Given the description of an element on the screen output the (x, y) to click on. 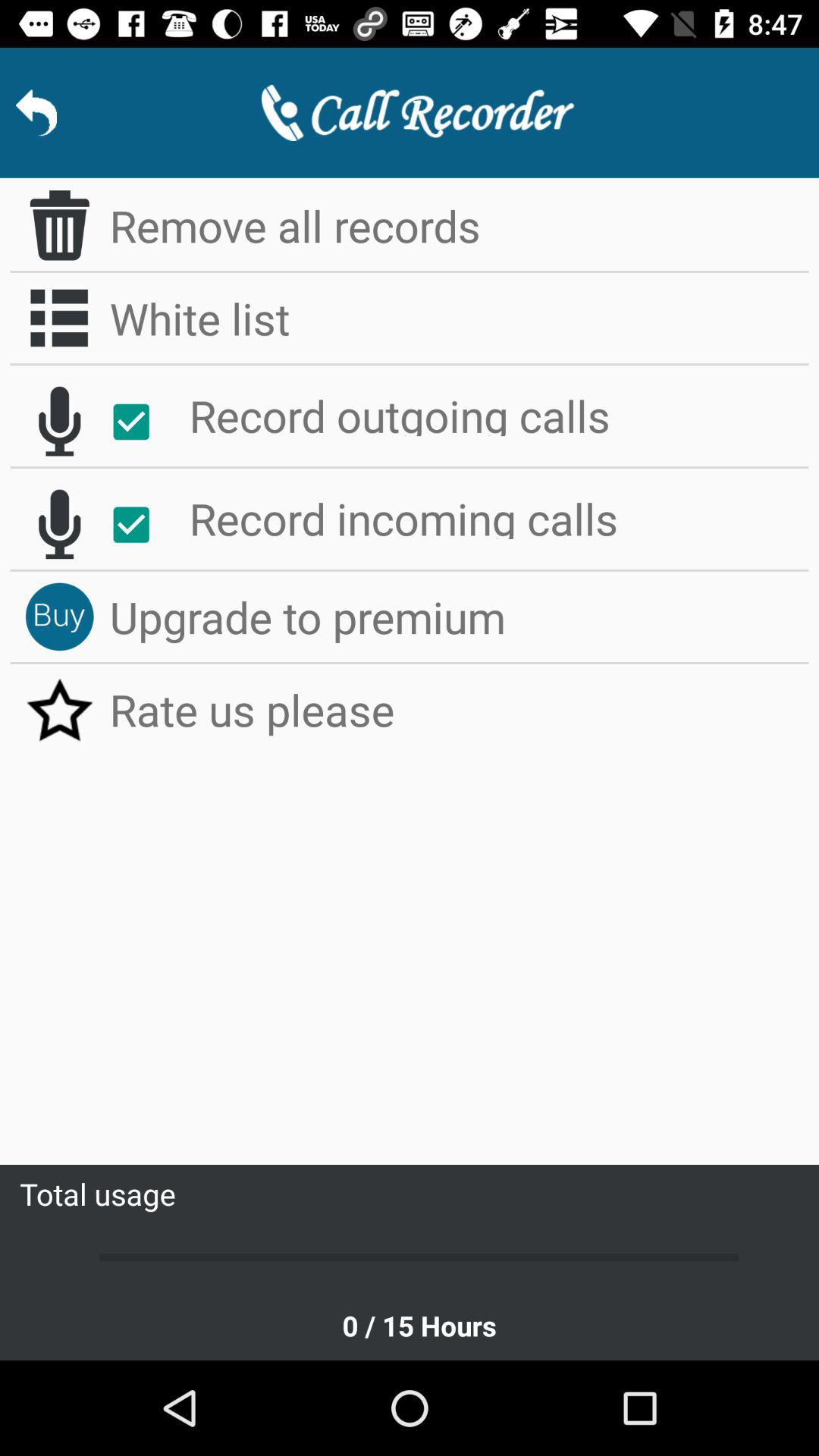
toggle incoming calls (59, 524)
